Given the description of an element on the screen output the (x, y) to click on. 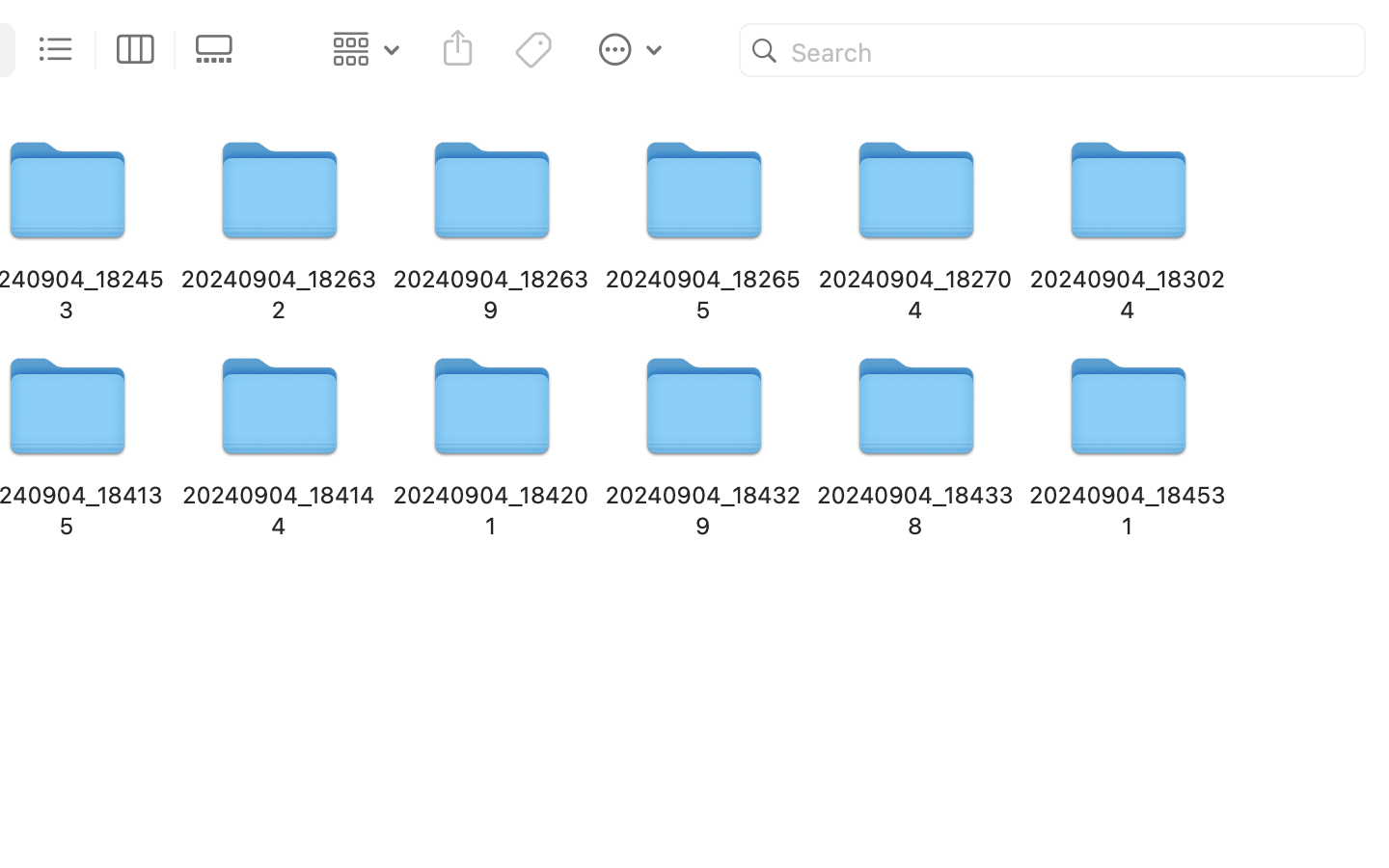
0 Element type: AXRadioButton (219, 49)
